Given the description of an element on the screen output the (x, y) to click on. 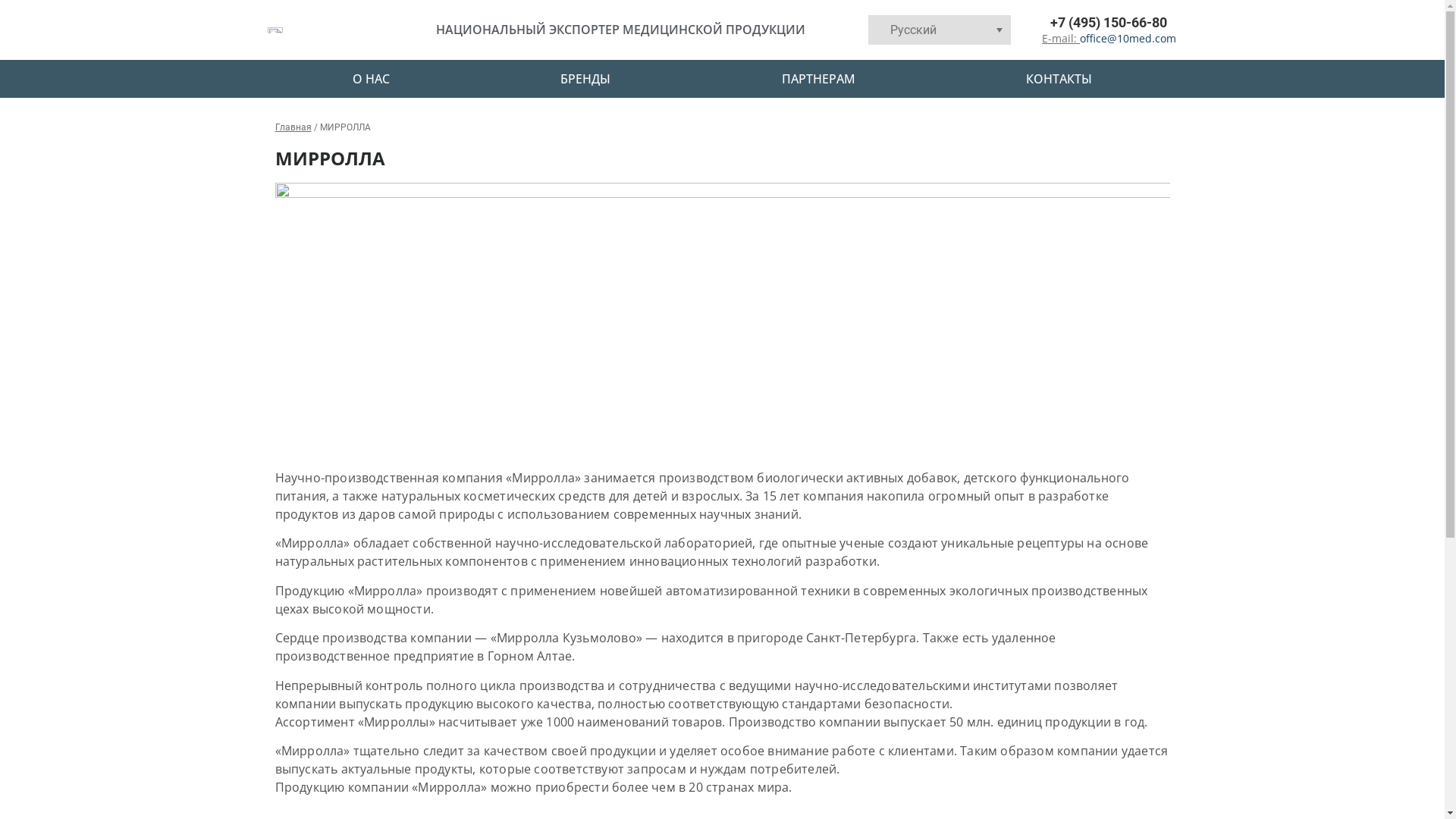
+7 (495) 150-66-80 Element type: text (1092, 22)
E-mail: office@10med.com Element type: text (1097, 38)
